Given the description of an element on the screen output the (x, y) to click on. 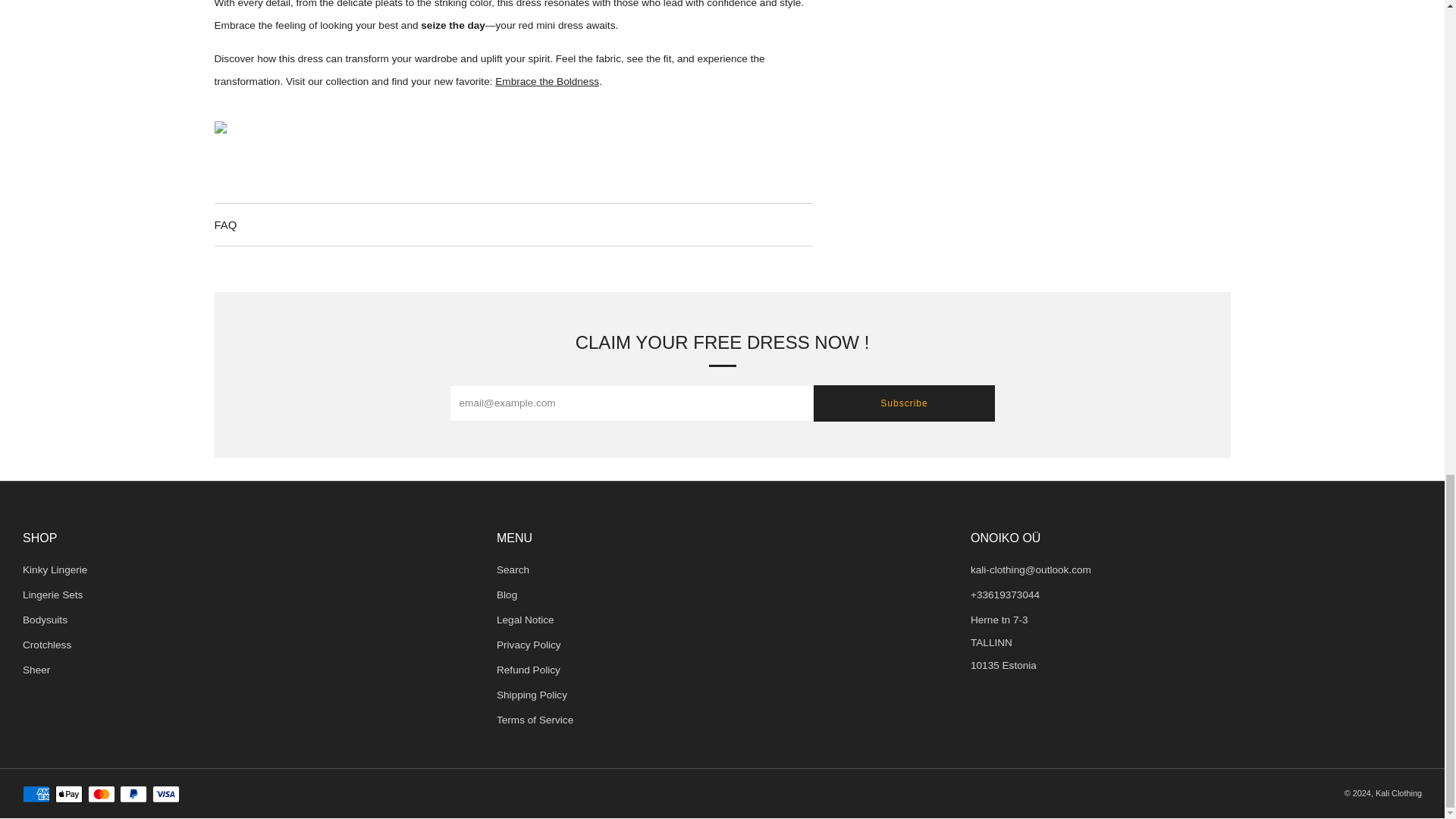
Embrace the Boldness (546, 81)
Bodysuits (44, 619)
Embrace the Boldness (546, 81)
Lingerie Sets (52, 594)
Kinky Lingerie (55, 569)
Subscribe (903, 402)
